Given the description of an element on the screen output the (x, y) to click on. 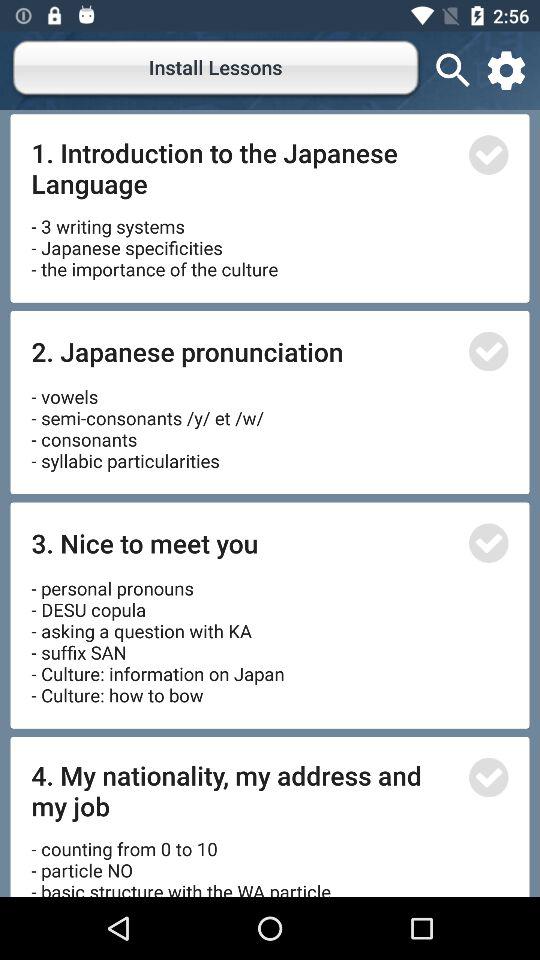
click item above the counting from 0 (243, 790)
